Given the description of an element on the screen output the (x, y) to click on. 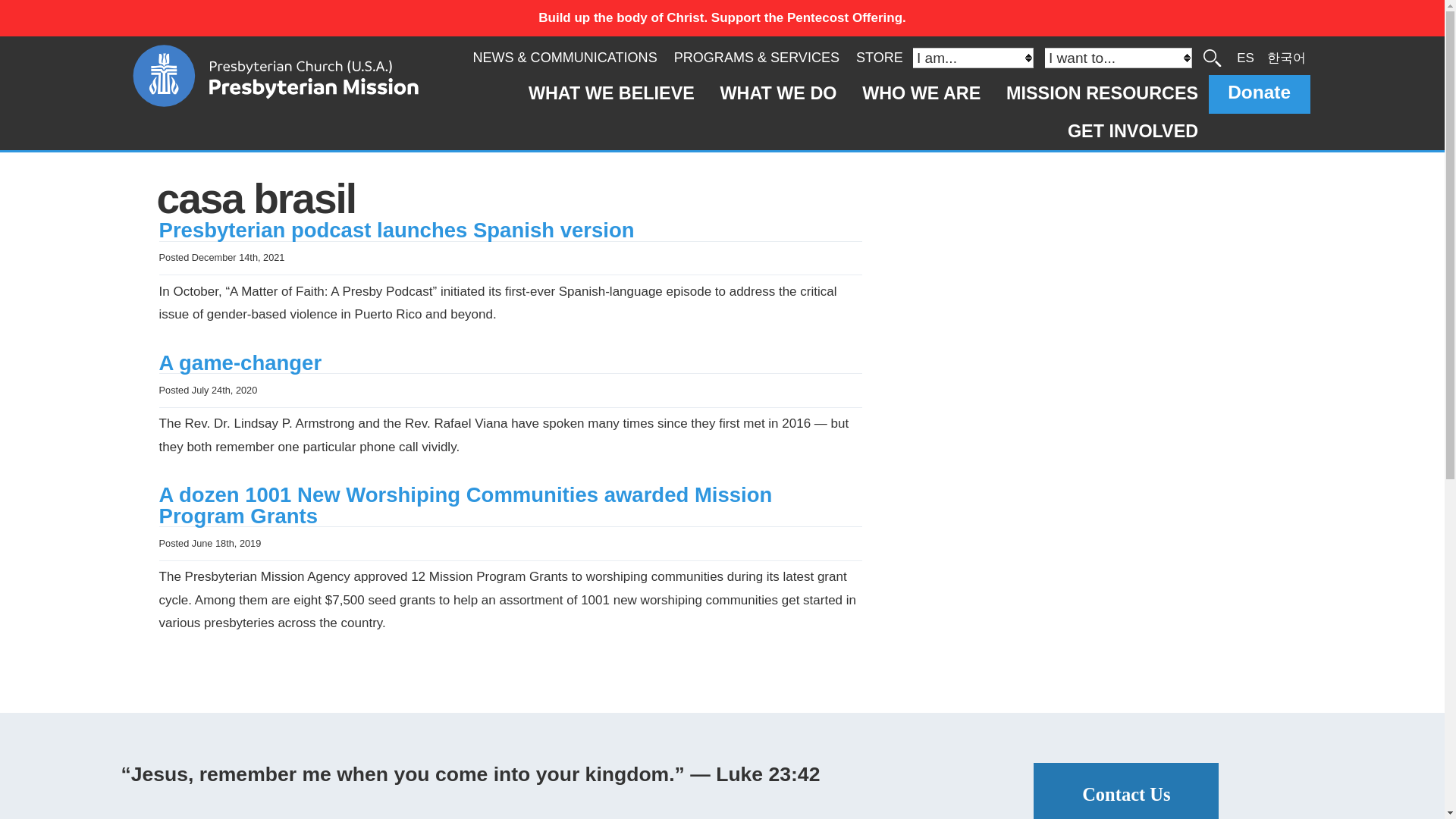
Presbyterian podcast launches Spanish version (396, 229)
A game-changer (239, 362)
Build up the body of Christ. Support the Pentecost Offering. (721, 17)
STORE (879, 57)
